Given the description of an element on the screen output the (x, y) to click on. 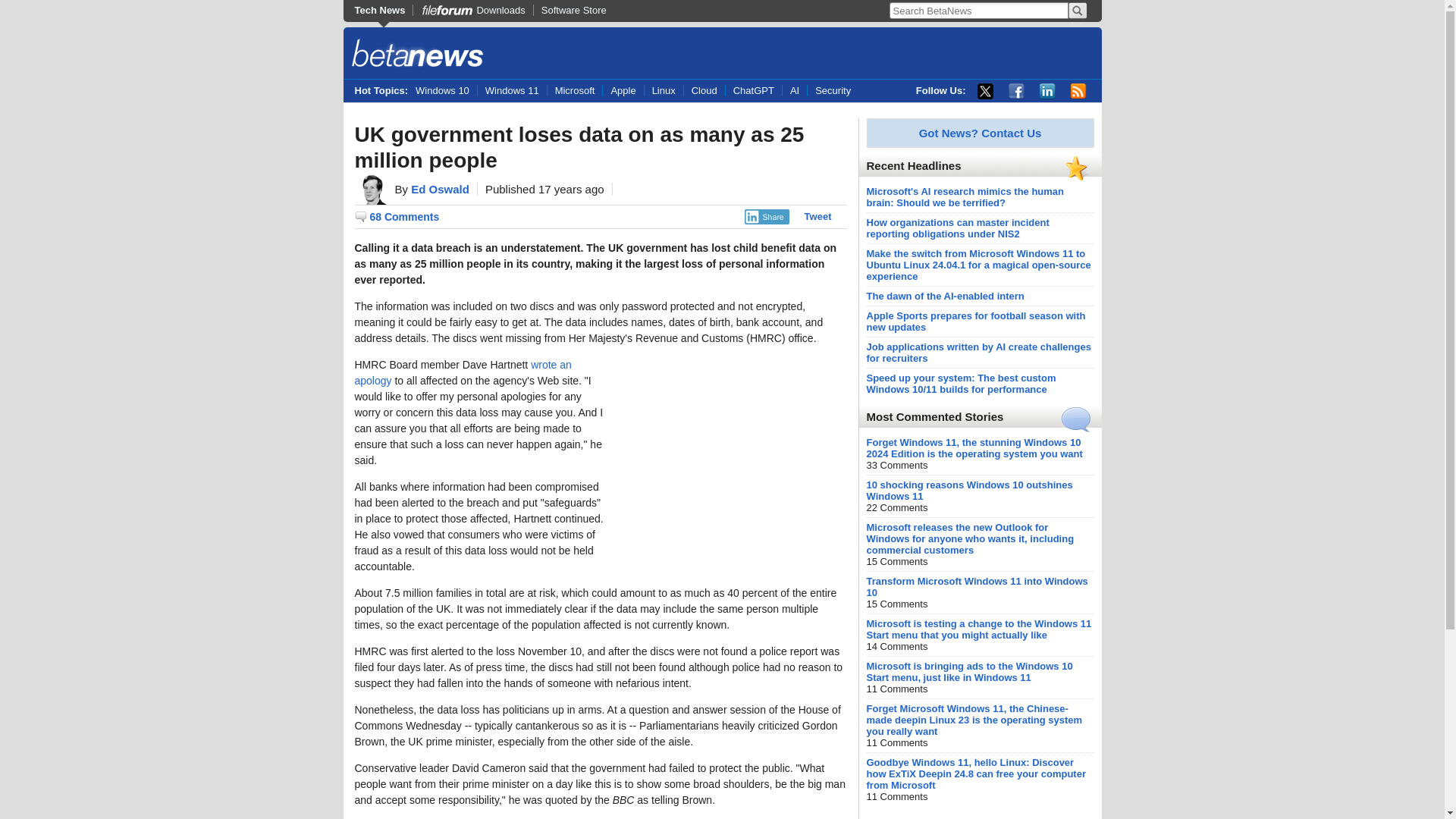
Transform Microsoft Windows 11 into Windows 10 (976, 586)
Tweet (818, 215)
ChatGPT (753, 90)
Facebook (1017, 91)
Advertisement (731, 452)
AI (793, 90)
Linked-in (1046, 91)
Windows 11 (512, 90)
10 shocking reasons Windows 10 outshines Windows 11 (968, 490)
